Given the description of an element on the screen output the (x, y) to click on. 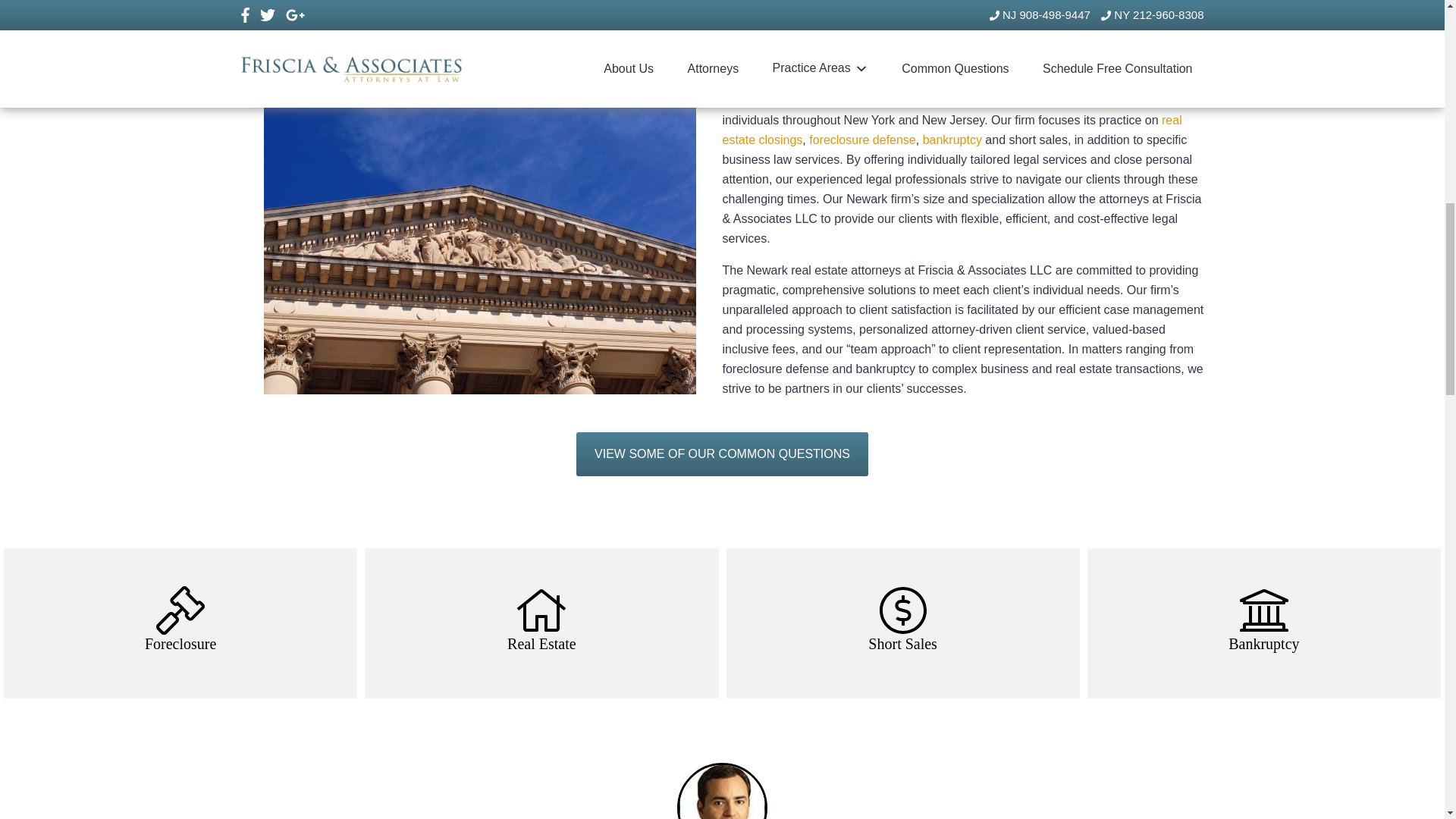
Real Estate (541, 622)
Short Sales (902, 622)
foreclosure defense (862, 139)
real estate closings (951, 129)
Foreclosure (180, 622)
bankruptcy (952, 139)
VIEW SOME OF OUR COMMON QUESTIONS (721, 453)
